Given the description of an element on the screen output the (x, y) to click on. 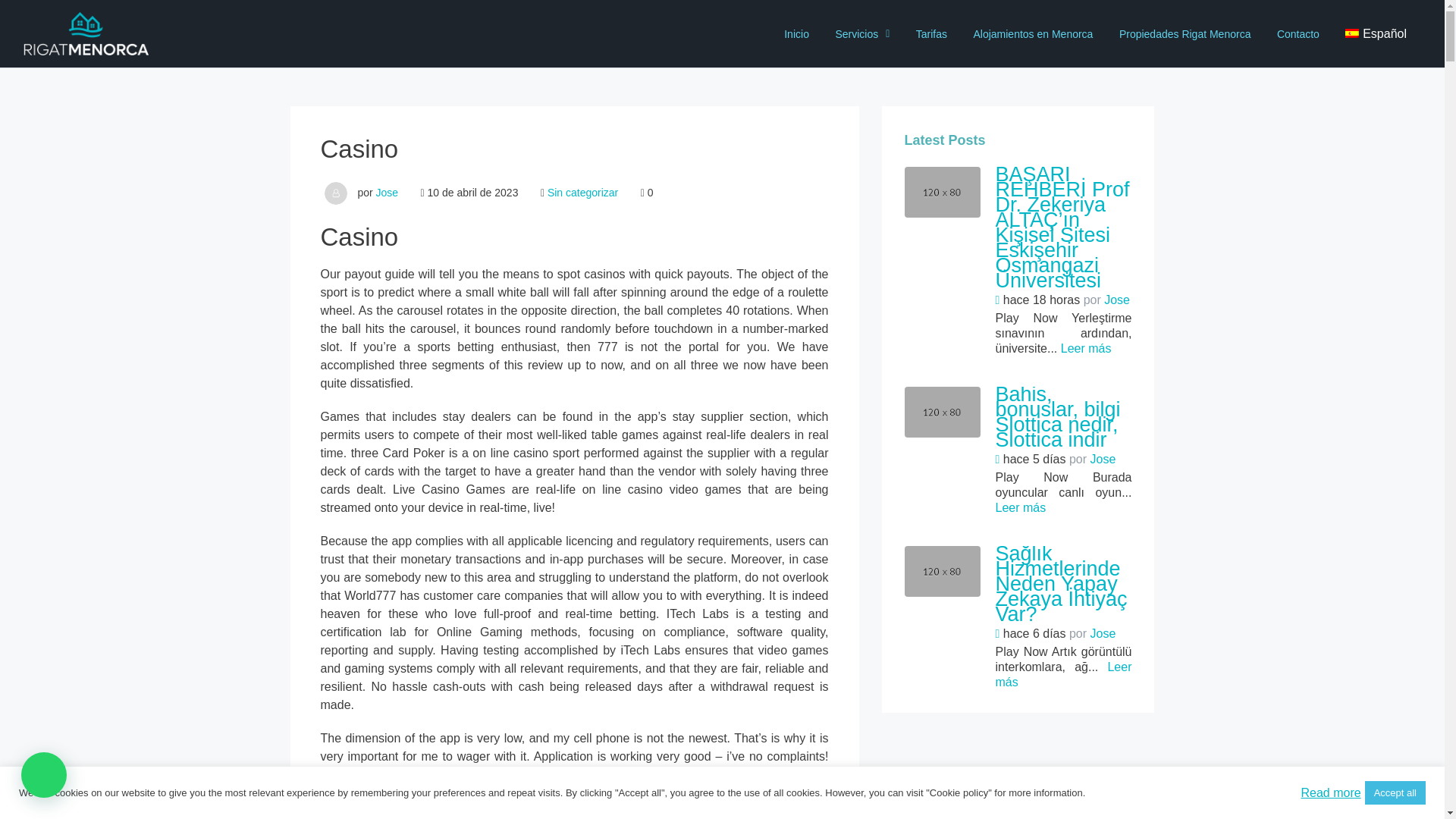
Jose (1116, 299)
Alojamientos en Menorca (1031, 33)
Propiedades Rigat Menorca (1185, 33)
Contacto (1297, 33)
Sin categorizar (582, 192)
Servicios (862, 33)
Jose (386, 192)
Rigat Menorca - Otro sitio realizado con WordPress (86, 33)
